Given the description of an element on the screen output the (x, y) to click on. 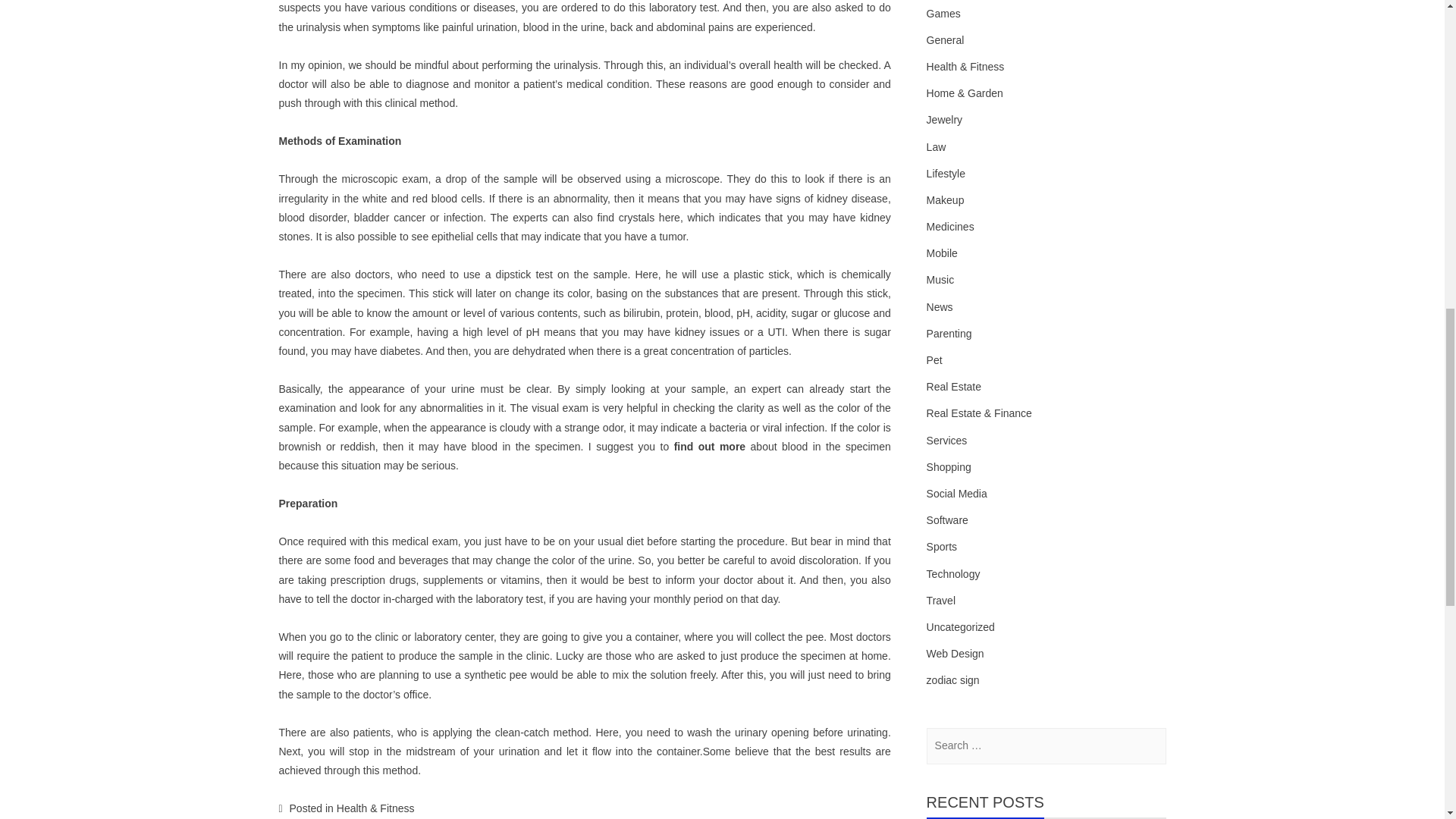
find out more (709, 446)
